Given the description of an element on the screen output the (x, y) to click on. 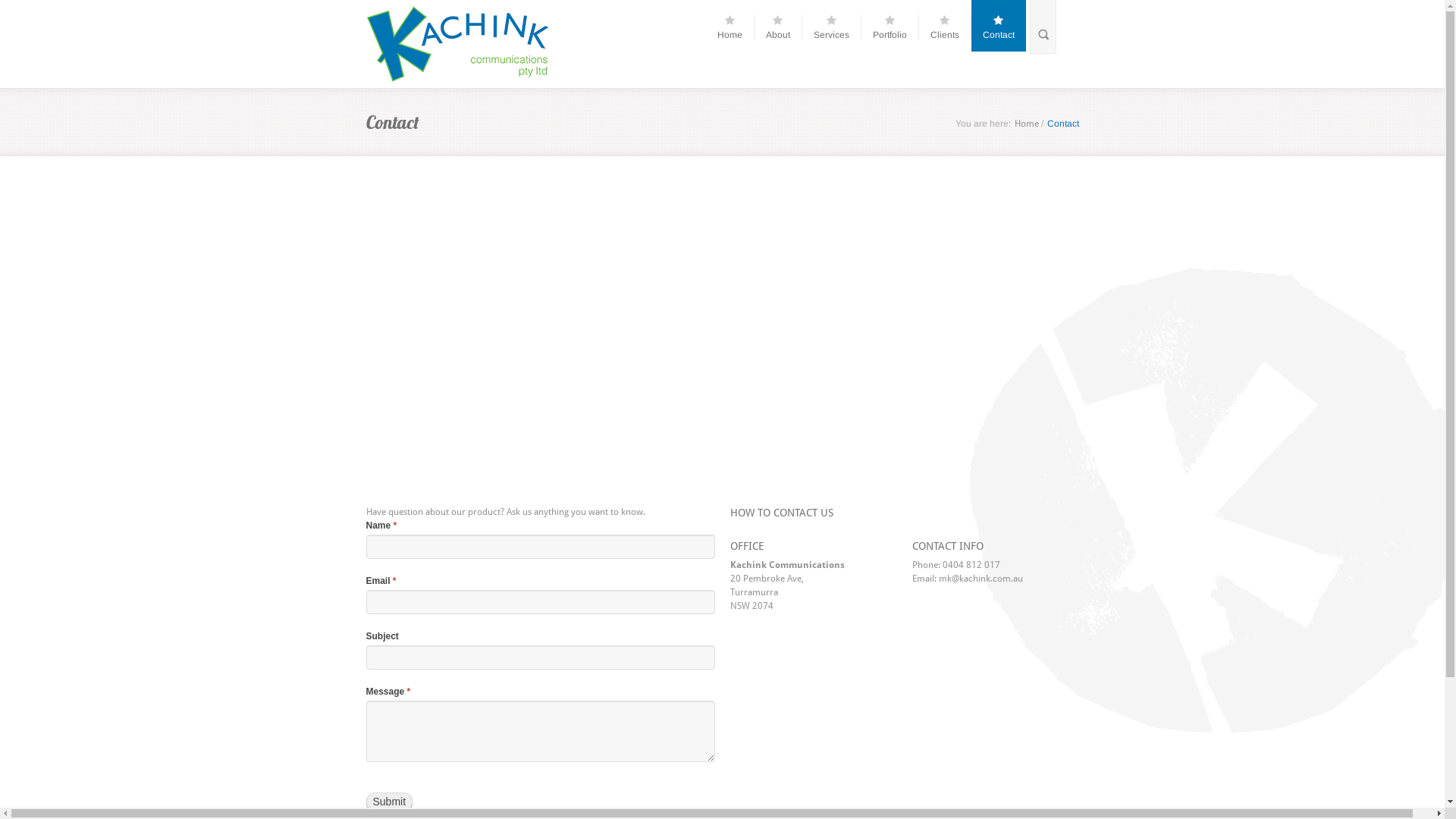
Portfolio Element type: text (895, 27)
Contact Element type: text (1004, 27)
Services Element type: text (836, 27)
Clients Element type: text (949, 27)
mk@kachink.com.au Element type: text (980, 578)
Home Element type: text (735, 27)
About Element type: text (783, 27)
Submit Element type: text (388, 801)
Home Element type: text (1026, 123)
submit Element type: text (20, 7)
